Given the description of an element on the screen output the (x, y) to click on. 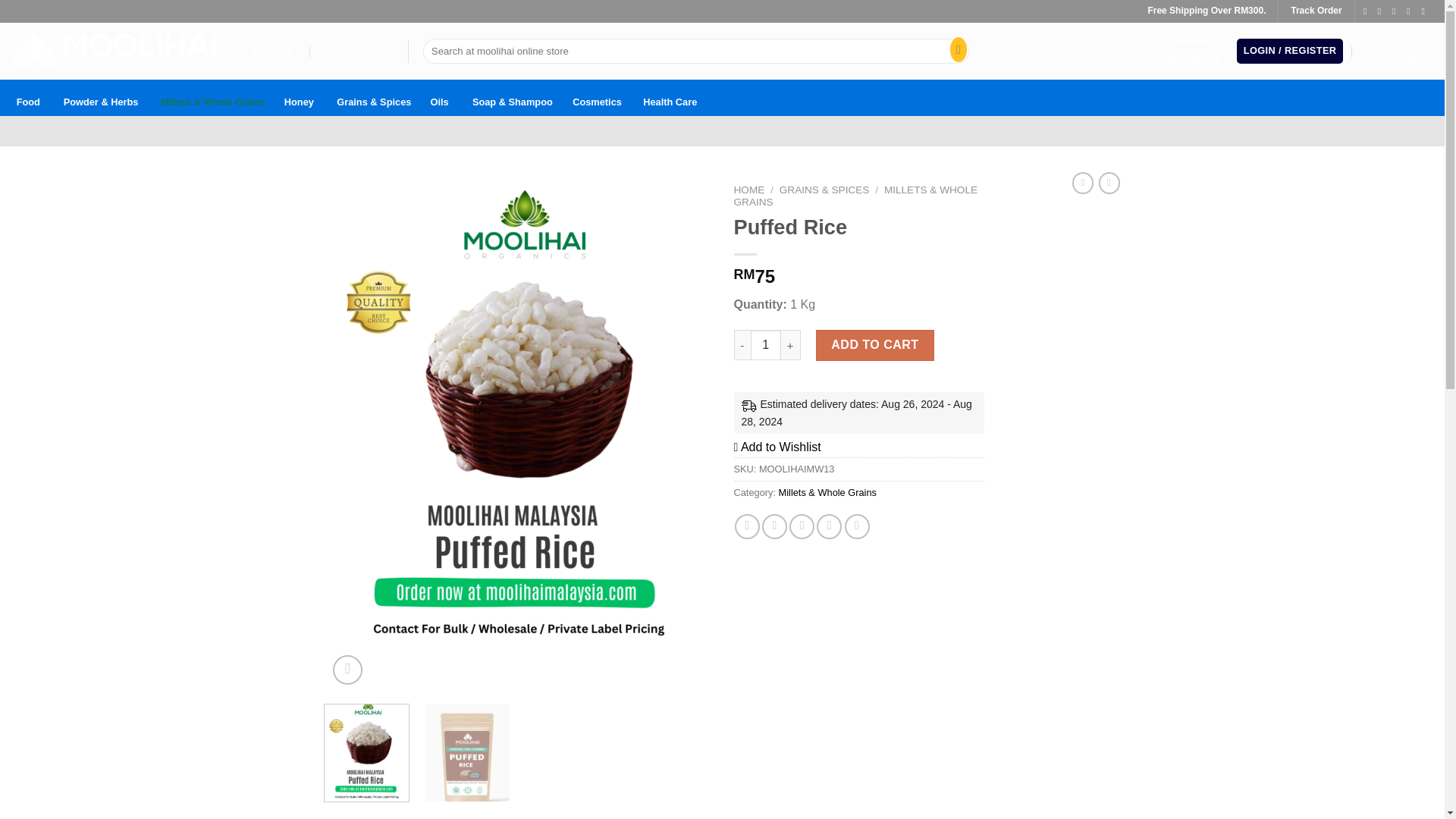
Food (28, 97)
Contact Us (1192, 50)
Cart (356, 51)
Cosmetics (1396, 51)
Shop All (596, 97)
Health Care (269, 51)
1 (670, 97)
Zoom (765, 345)
Track Order (347, 669)
